Given the description of an element on the screen output the (x, y) to click on. 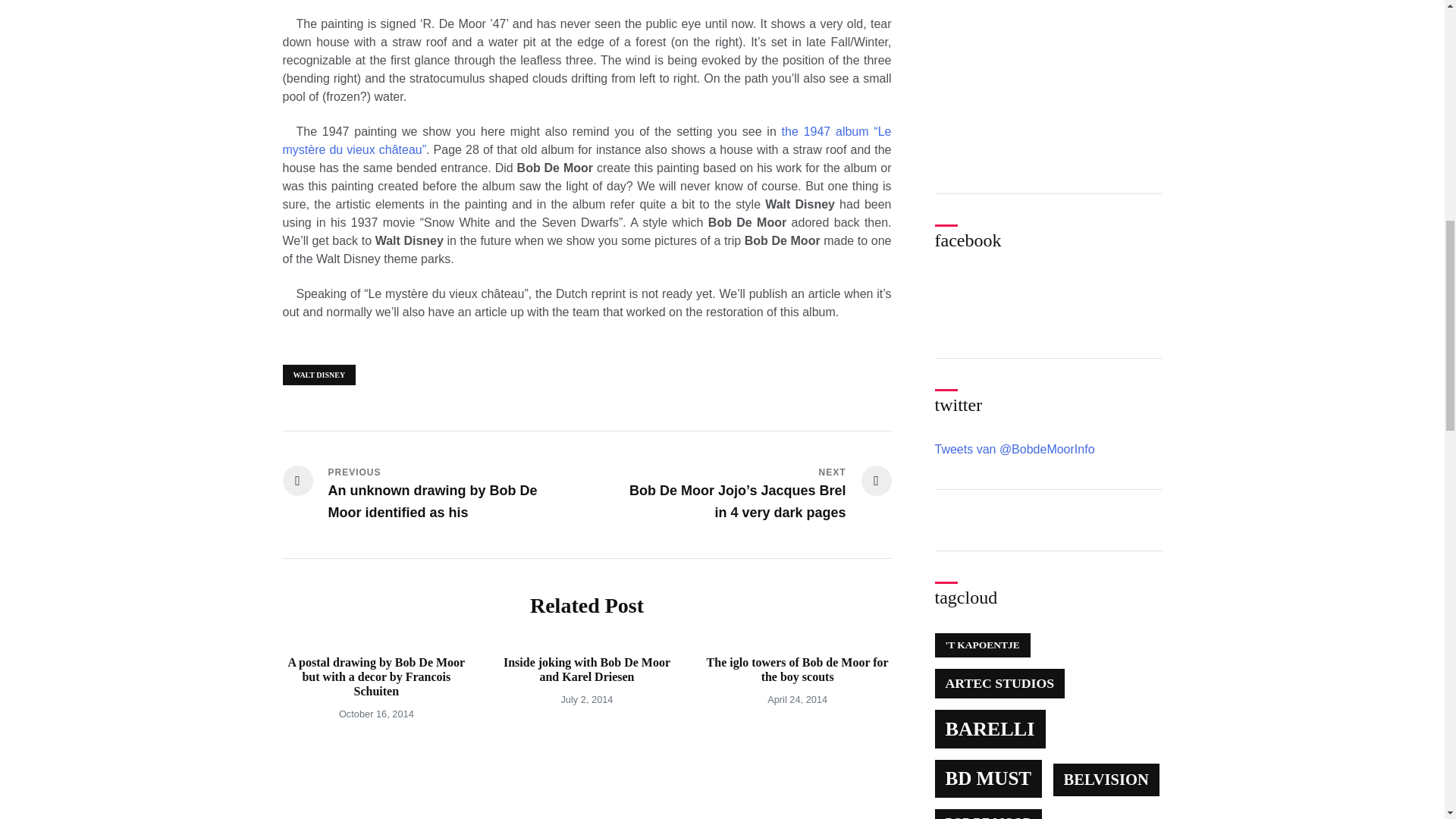
ARTEC STUDIOS (999, 683)
WALT DISNEY (318, 374)
An unknown drawing by Bob De Moor identified as his (434, 495)
'T KAPOENTJE (981, 645)
Inside joking with Bob De Moor and Karel Driesen (586, 669)
The iglo towers of Bob de Moor for the boy scouts (797, 669)
